Given the description of an element on the screen output the (x, y) to click on. 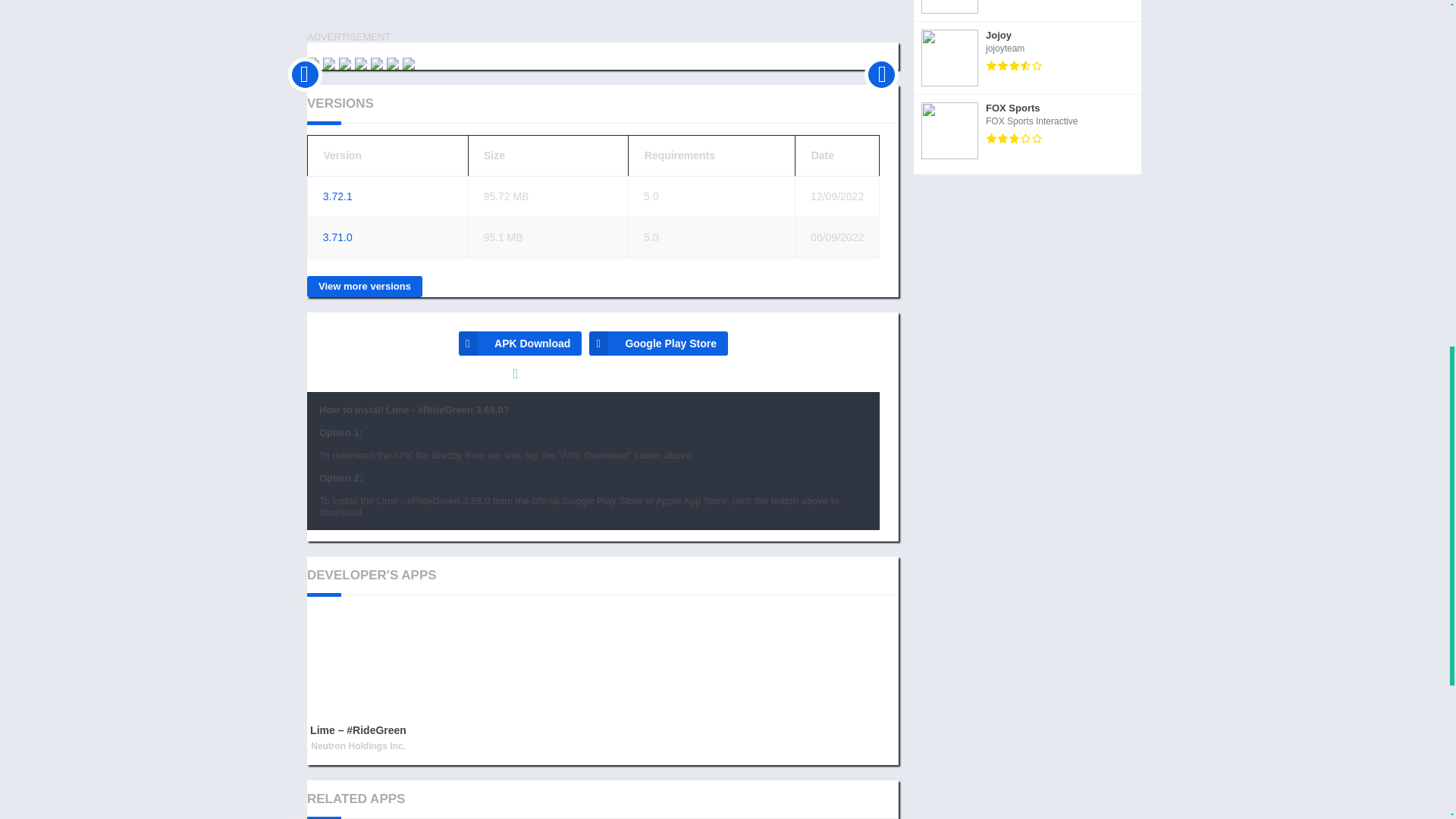
APK Download (519, 343)
3.72.1 (337, 196)
3.71.0 (337, 236)
View more versions (364, 286)
Google Play Store (658, 343)
